Given the description of an element on the screen output the (x, y) to click on. 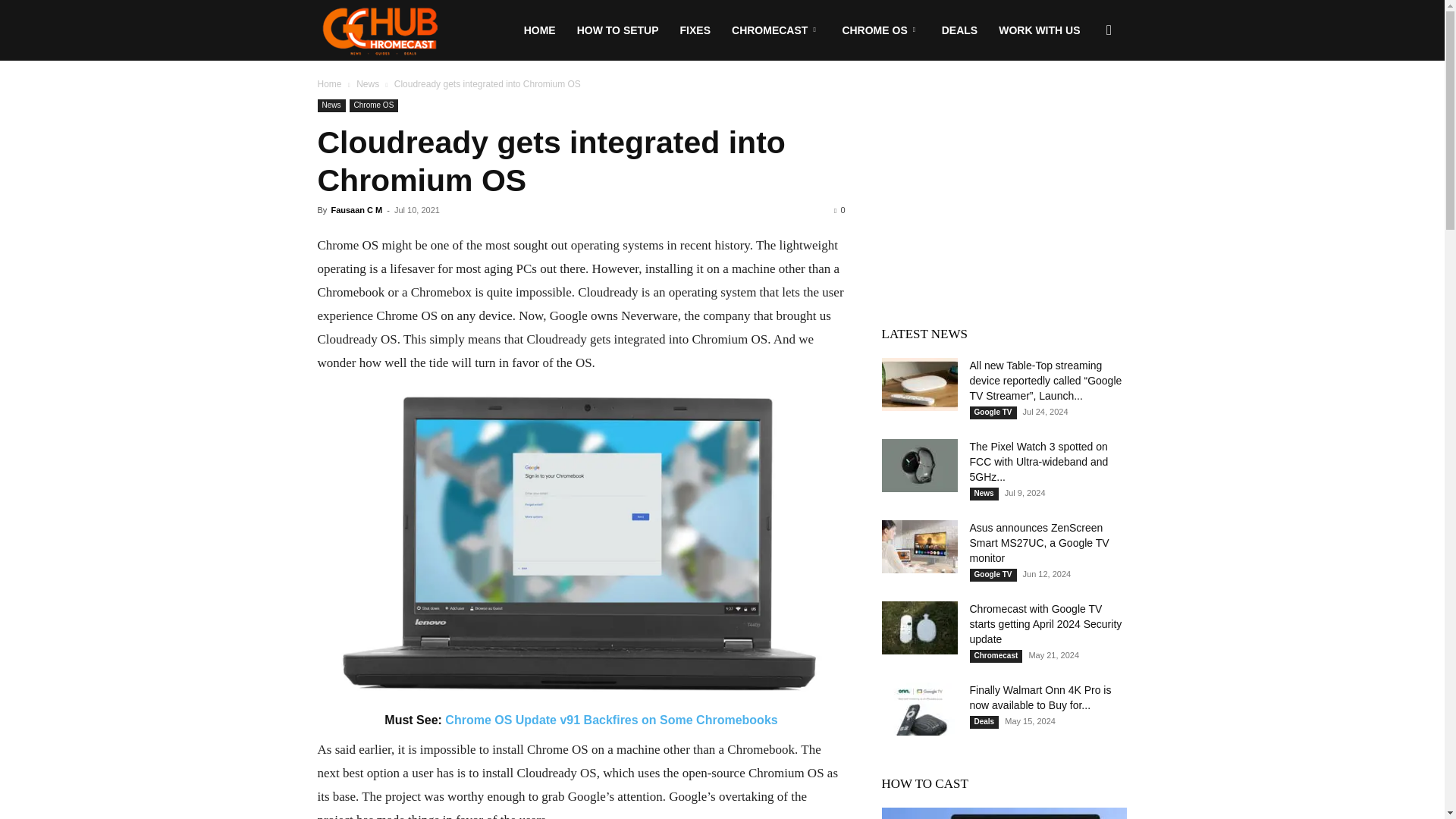
Home (328, 83)
HOW TO SETUP (617, 30)
Search (1085, 102)
DEALS (959, 30)
0 (839, 209)
News (367, 83)
Fausaan C M (355, 209)
View all posts in News (367, 83)
CHROME OS (880, 30)
WORK WITH US (1039, 30)
GChromecast Hub (379, 30)
Chrome OS (373, 105)
GChromecast Hub (379, 30)
CHROMECAST (775, 30)
News (331, 105)
